Given the description of an element on the screen output the (x, y) to click on. 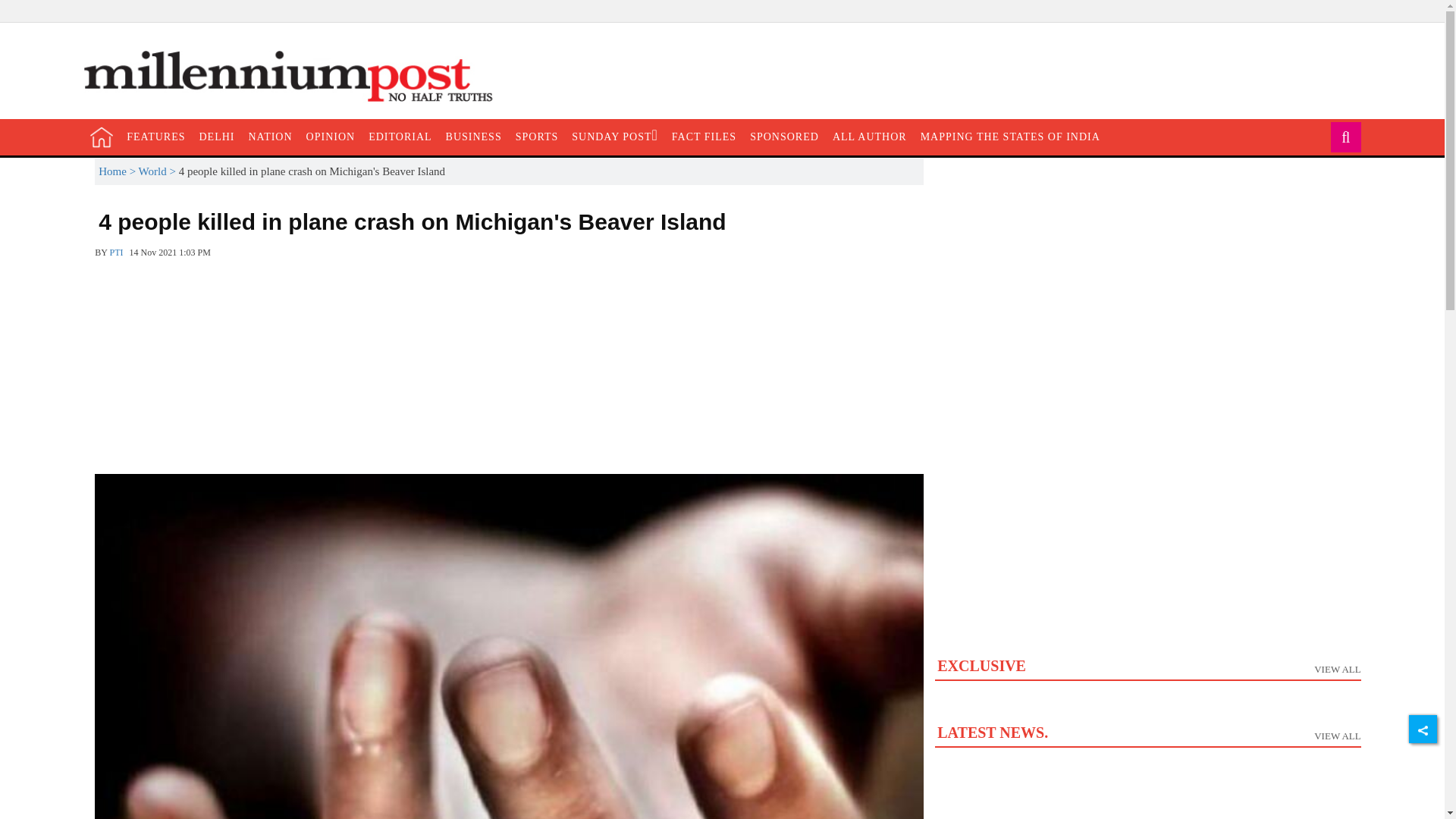
FACT FILES (703, 136)
OPINION (330, 136)
ALL AUTHOR (869, 136)
SPONSORED (783, 136)
DELHI (216, 136)
NATION (269, 136)
EDITORIAL (399, 136)
FEATURES (155, 136)
SPORTS (537, 136)
home (101, 137)
MillenniumPost (295, 76)
MAPPING THE STATES OF INDIA (1010, 136)
SUNDAY POST (614, 136)
BUSINESS (473, 136)
